Given the description of an element on the screen output the (x, y) to click on. 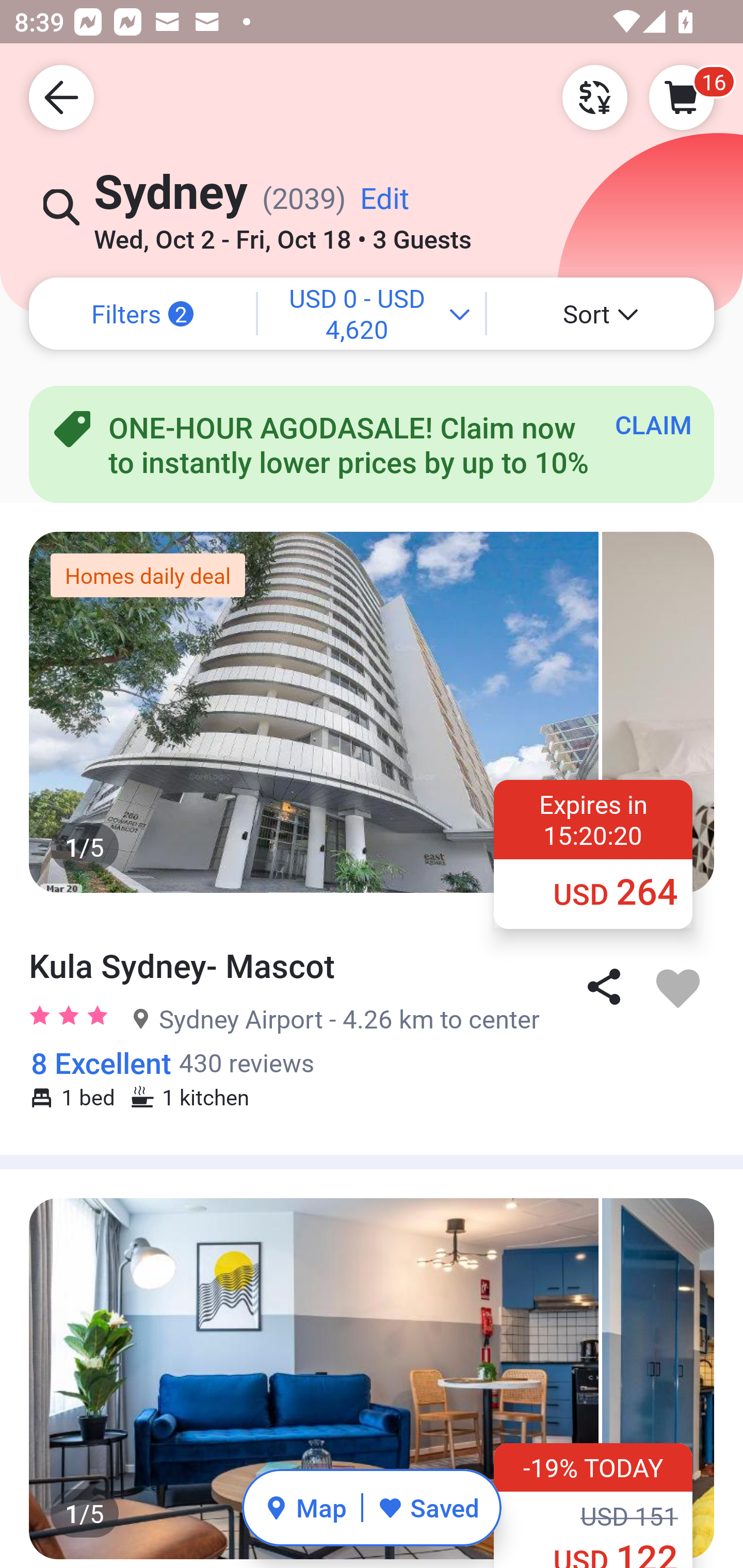
Filters 2 (141, 313)
⁦USD 0⁩ - ⁦USD 4,620⁩ (371, 313)
Sort (600, 313)
CLAIM (653, 424)
1/5 (371, 711)
Homes daily deal (147, 575)
Expires in 15:20:21 ‪USD 264 (593, 853)
1/5 (371, 1377)
-19% TODAY ‪USD 151 ‪USD 122 (593, 1505)
Map (305, 1507)
Saved (428, 1507)
